Given the description of an element on the screen output the (x, y) to click on. 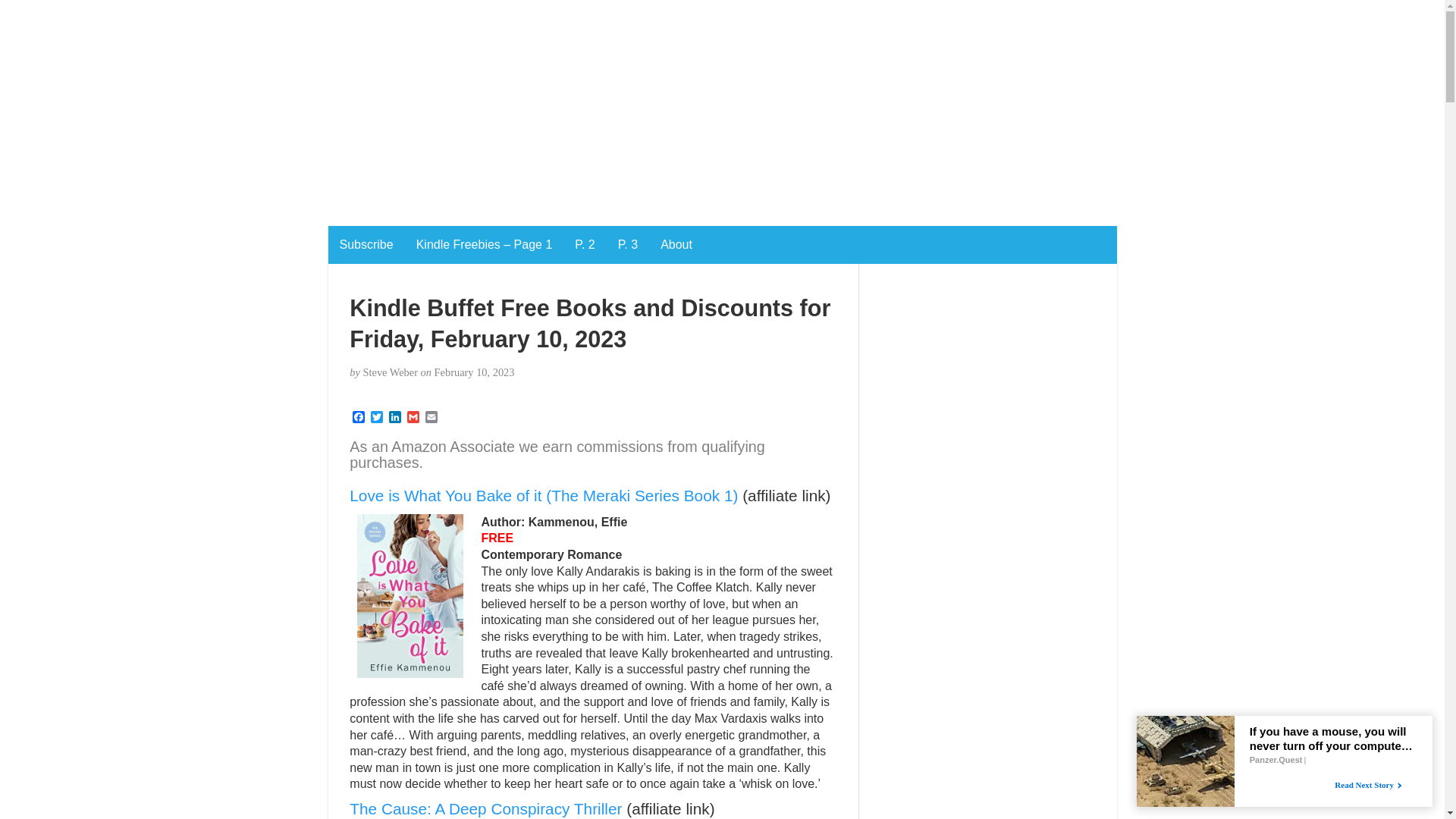
Gmail (413, 418)
Twitter (376, 418)
Email (431, 418)
Subscribe (365, 244)
Facebook (358, 418)
LinkedIn (394, 418)
LinkedIn (394, 418)
P. 3 (628, 244)
Facebook (358, 418)
Kindle Freebies - Page 1 (484, 244)
Twitter (376, 418)
About (676, 244)
P. 2 (584, 244)
Email (431, 418)
Gmail (413, 418)
